Given the description of an element on the screen output the (x, y) to click on. 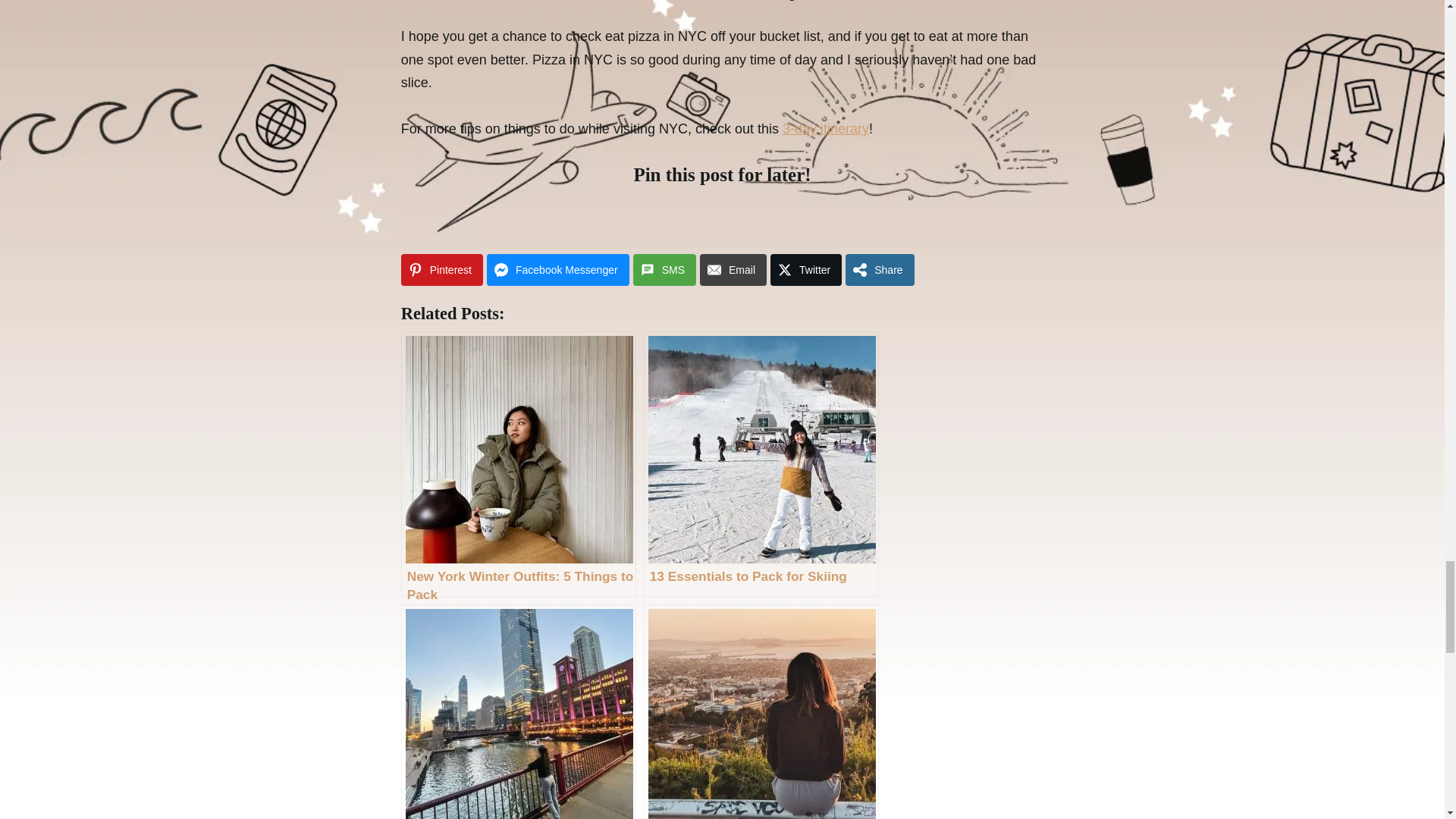
Share on SMS (664, 269)
Share on Pinterest (442, 269)
Share on Facebook Messenger (557, 269)
Share on Email (733, 269)
